Given the description of an element on the screen output the (x, y) to click on. 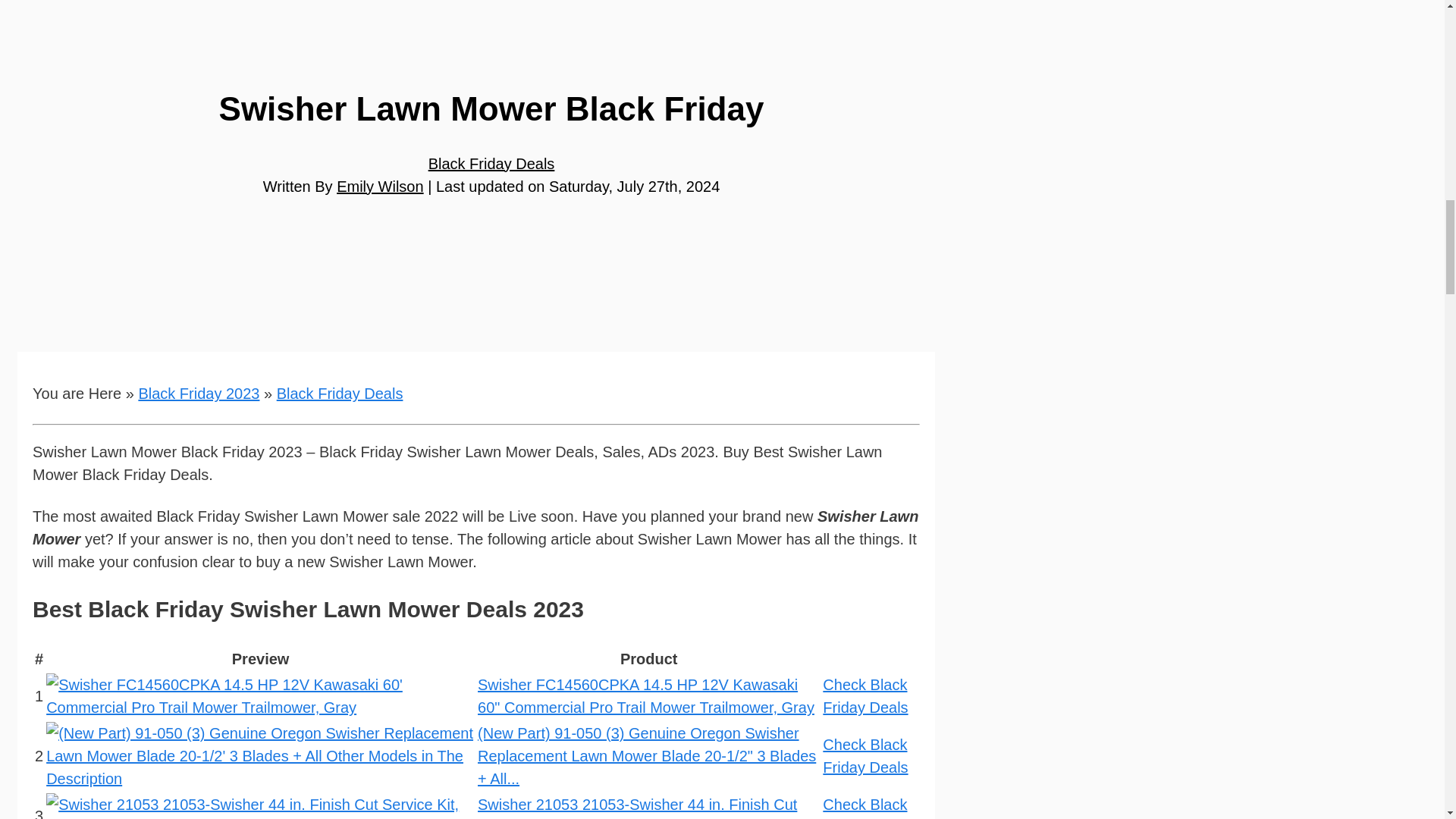
View all posts by Emily Wilson (379, 186)
Swisher Lawn Mower Black Friday 2 (260, 755)
Check Black Friday Deals (864, 755)
Check Black Friday Deals (864, 695)
Swisher Lawn Mower Black Friday 1 (260, 696)
Swisher Lawn Mower Black Friday 3 (260, 806)
